Given the description of an element on the screen output the (x, y) to click on. 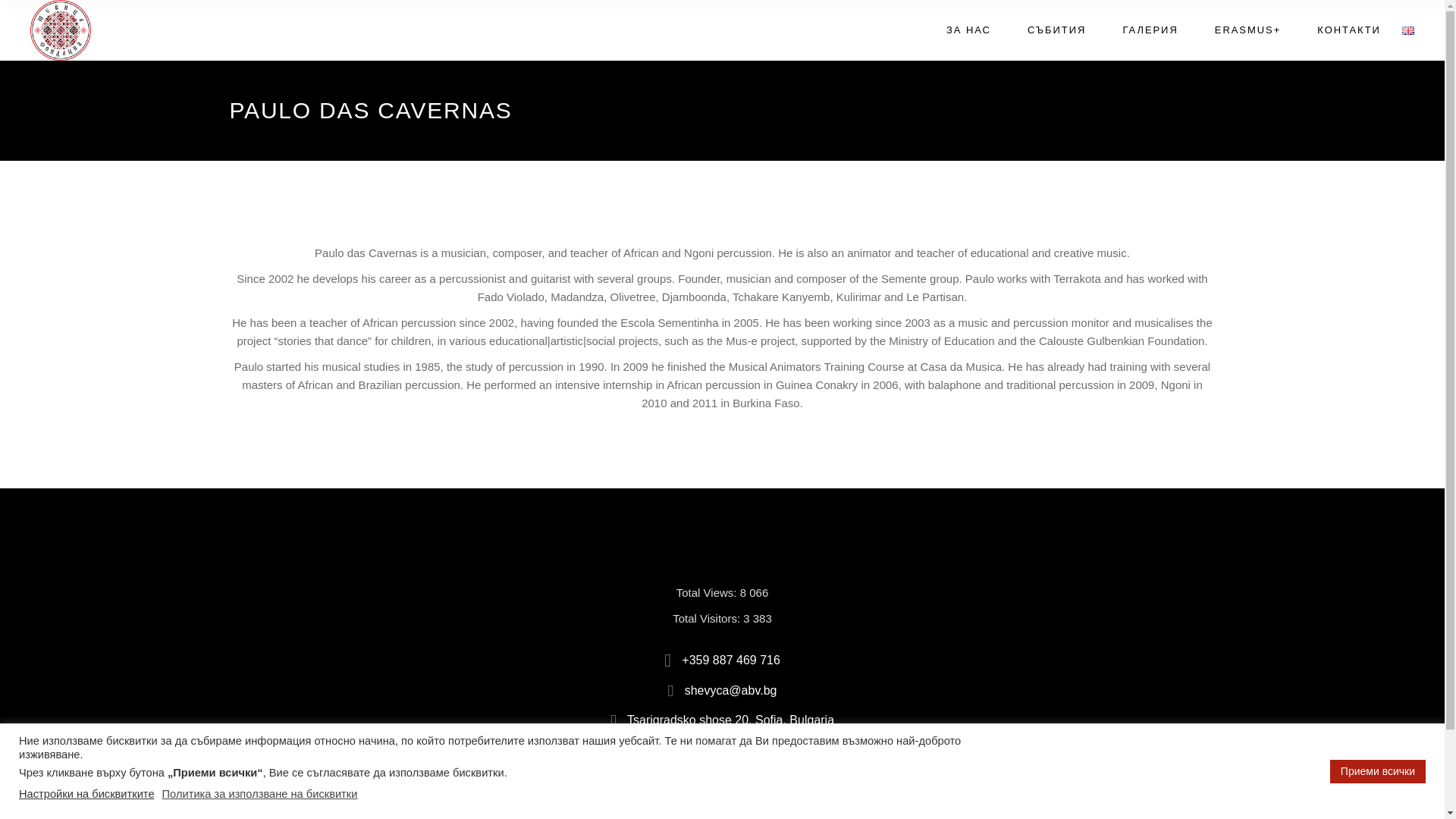
Tsarigradsko shose 20, Sofia, Bulgaria (722, 720)
